Given the description of an element on the screen output the (x, y) to click on. 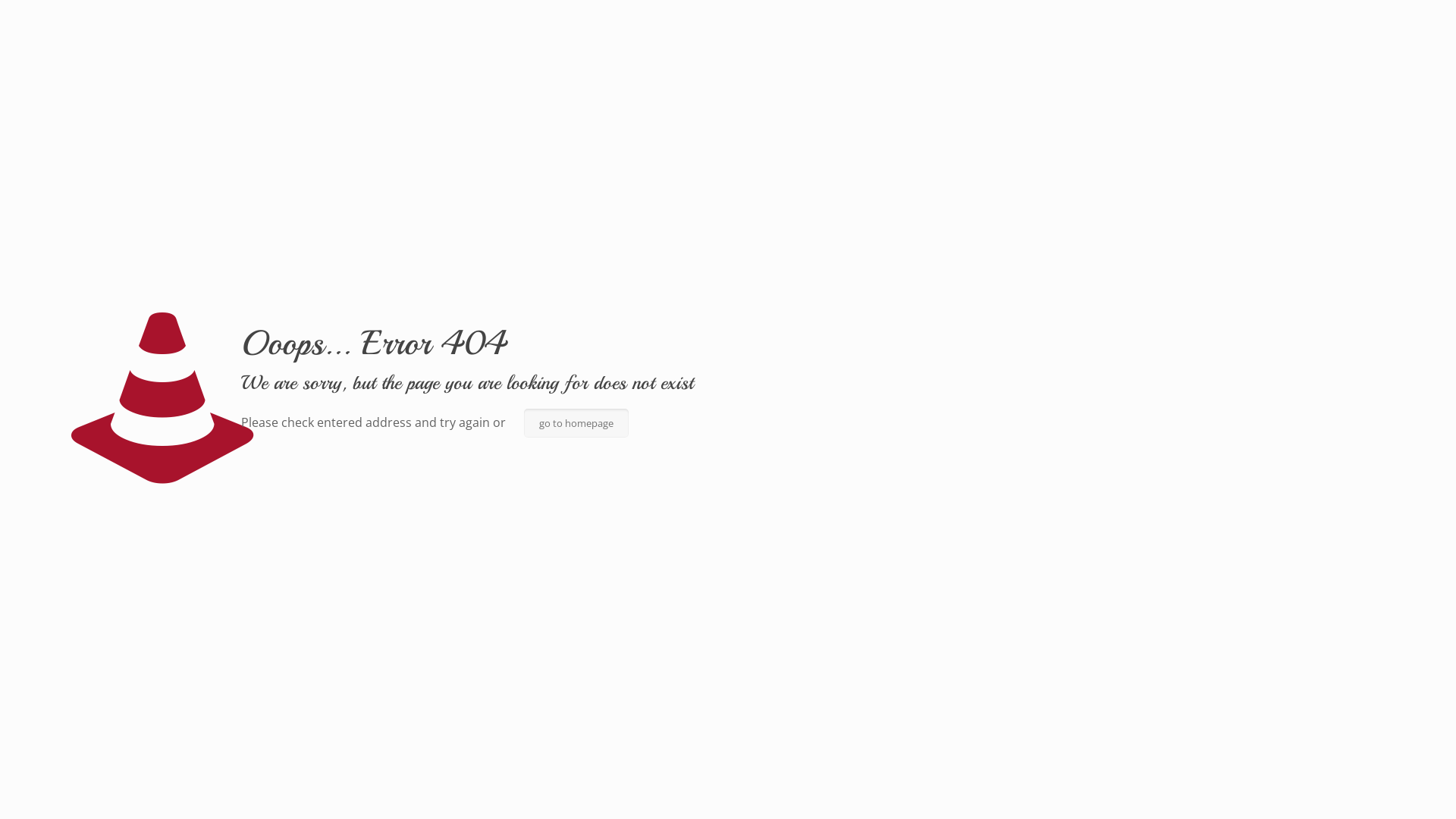
go to homepage Element type: text (576, 422)
